Given the description of an element on the screen output the (x, y) to click on. 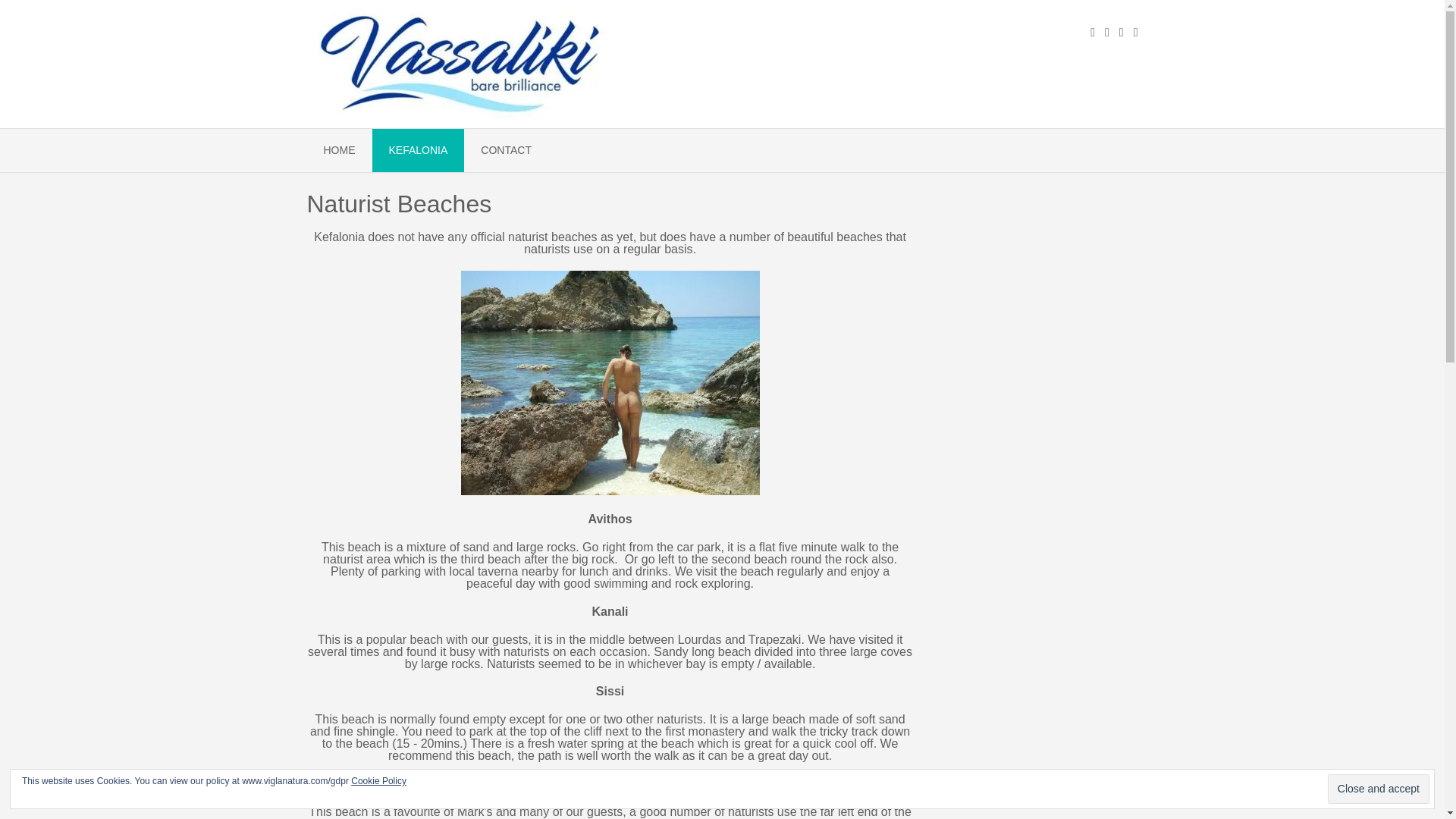
CONTACT (506, 149)
KEFALONIA (417, 149)
Close and accept (1378, 788)
Contact Us (506, 149)
Cookie Policy (378, 780)
Close and accept (1378, 788)
Vigla Natura Homepage (338, 149)
HOME (338, 149)
